Given the description of an element on the screen output the (x, y) to click on. 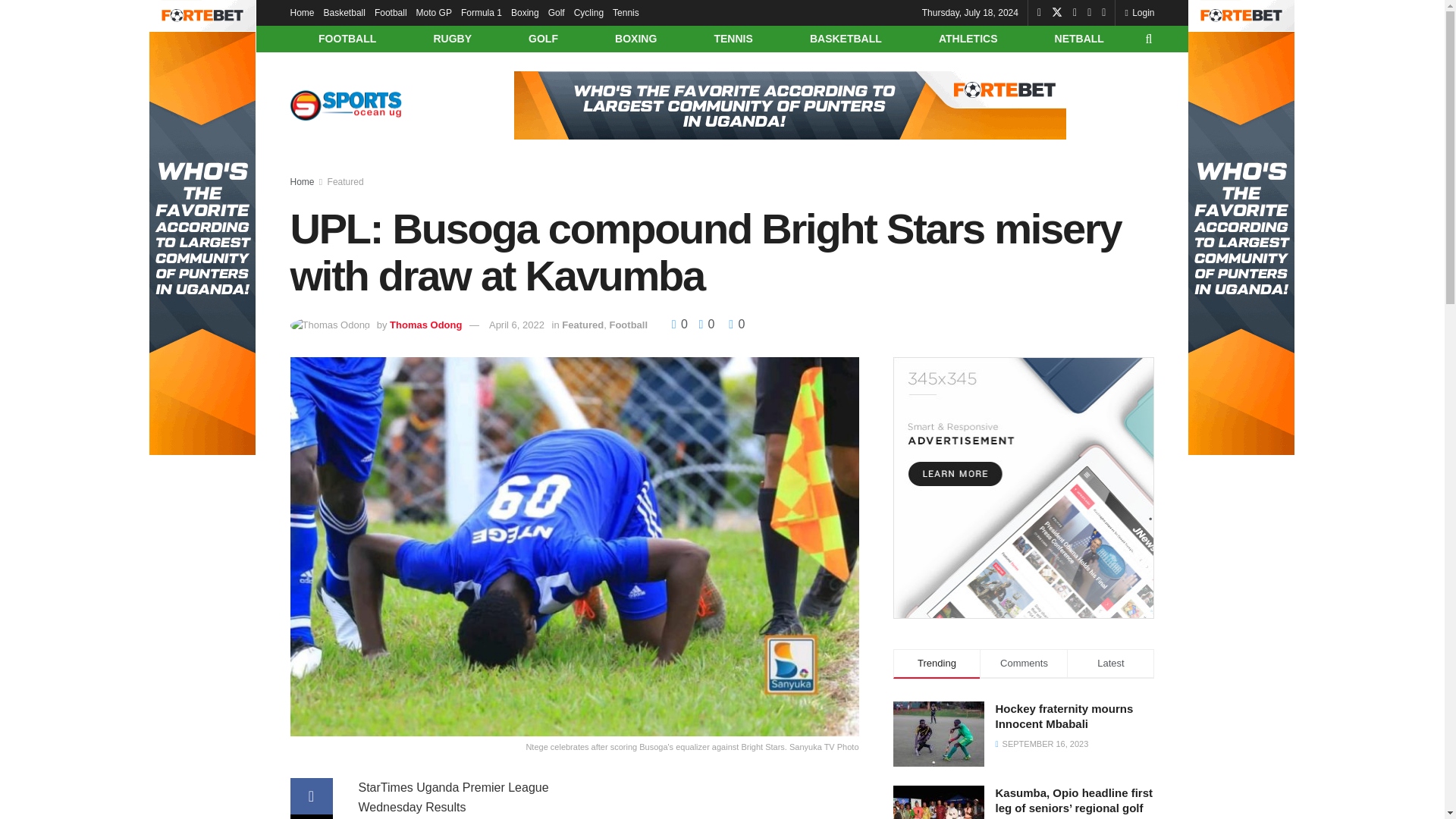
Boxing (524, 12)
Golf (556, 12)
Football (390, 12)
GOLF (543, 38)
TENNIS (732, 38)
NETBALL (1079, 38)
RUGBY (452, 38)
BASKETBALL (845, 38)
ATHLETICS (968, 38)
Login (1139, 12)
Formula 1 (481, 12)
Tennis (625, 12)
BOXING (635, 38)
Moto GP (433, 12)
Home (301, 12)
